Given the description of an element on the screen output the (x, y) to click on. 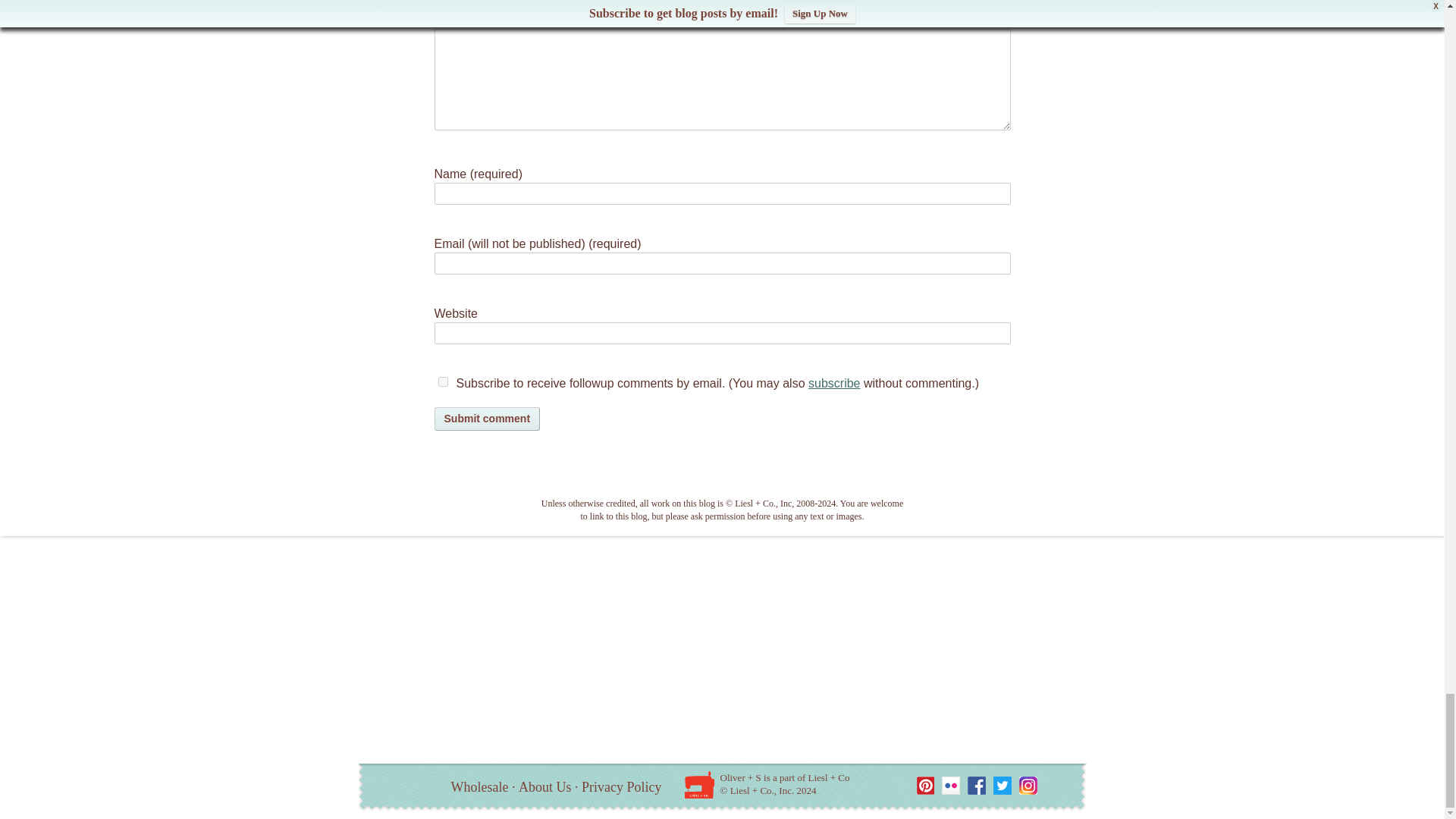
Submit comment (486, 418)
yes (442, 381)
